Given the description of an element on the screen output the (x, y) to click on. 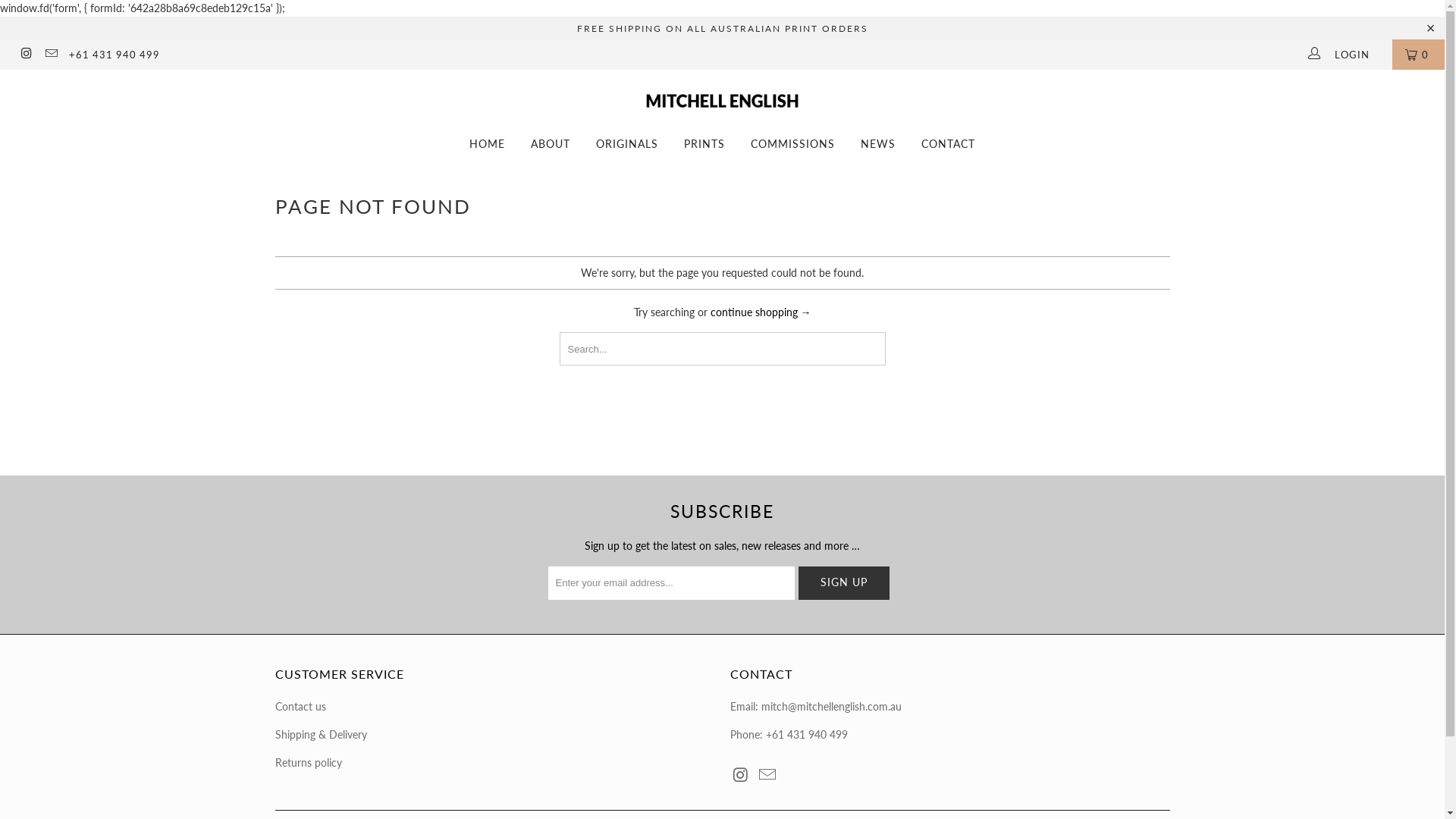
Shipping & Delivery Element type: text (320, 734)
mitch@mitchellenglish.com.au Element type: text (831, 705)
COMMISSIONS Element type: text (792, 144)
Mitchell English Element type: hover (722, 94)
0 Element type: text (1418, 54)
CONTACT Element type: text (948, 144)
NEWS Element type: text (877, 144)
Email Mitchell English Element type: hover (767, 774)
Mitchell English on Instagram Element type: hover (25, 54)
LOGIN Element type: text (1342, 54)
Mitchell English on Instagram Element type: hover (740, 774)
PRINTS Element type: text (704, 144)
Contact us Element type: text (299, 705)
Returns policy Element type: text (307, 762)
Email Mitchell English Element type: hover (49, 54)
ABOUT Element type: text (550, 144)
ORIGINALS Element type: text (627, 144)
Sign Up Element type: text (842, 582)
HOME Element type: text (487, 144)
+61 431 940 499 Element type: text (114, 54)
